Given the description of an element on the screen output the (x, y) to click on. 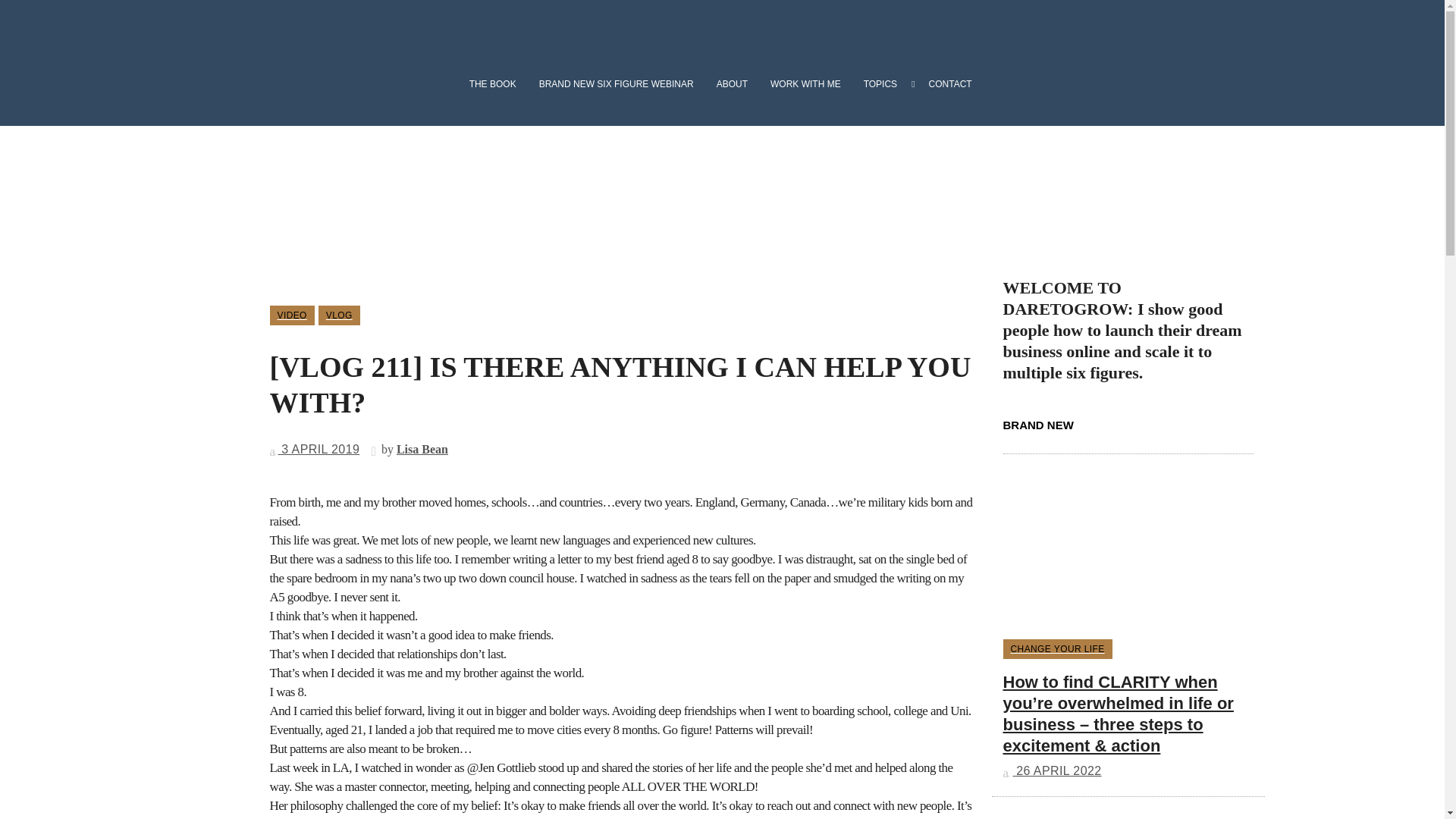
CONTACT (946, 84)
BRAND NEW SIX FIGURE WEBINAR (615, 84)
WORK WITH ME (804, 84)
